Given the description of an element on the screen output the (x, y) to click on. 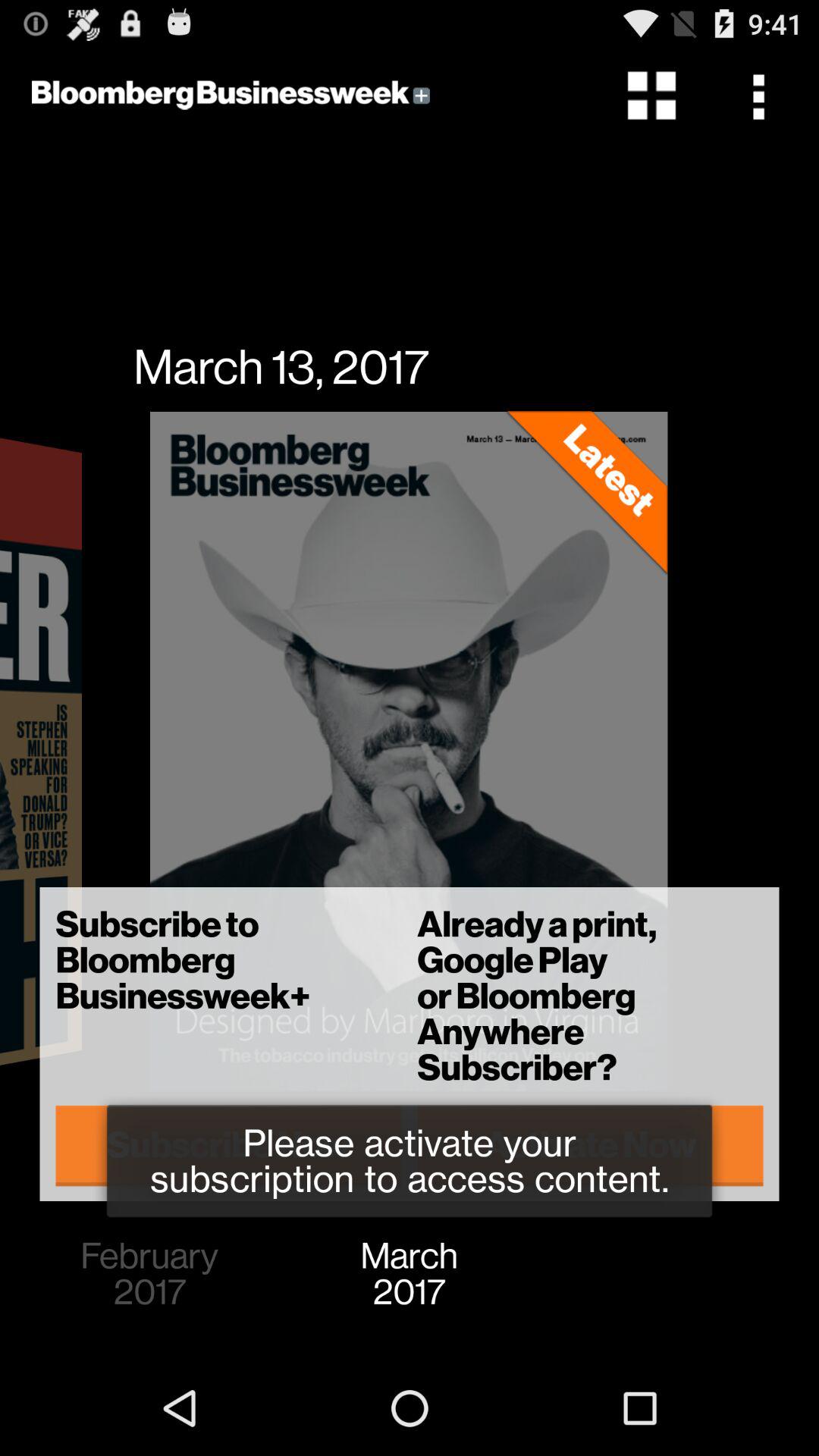
press the activate now (590, 1145)
